Given the description of an element on the screen output the (x, y) to click on. 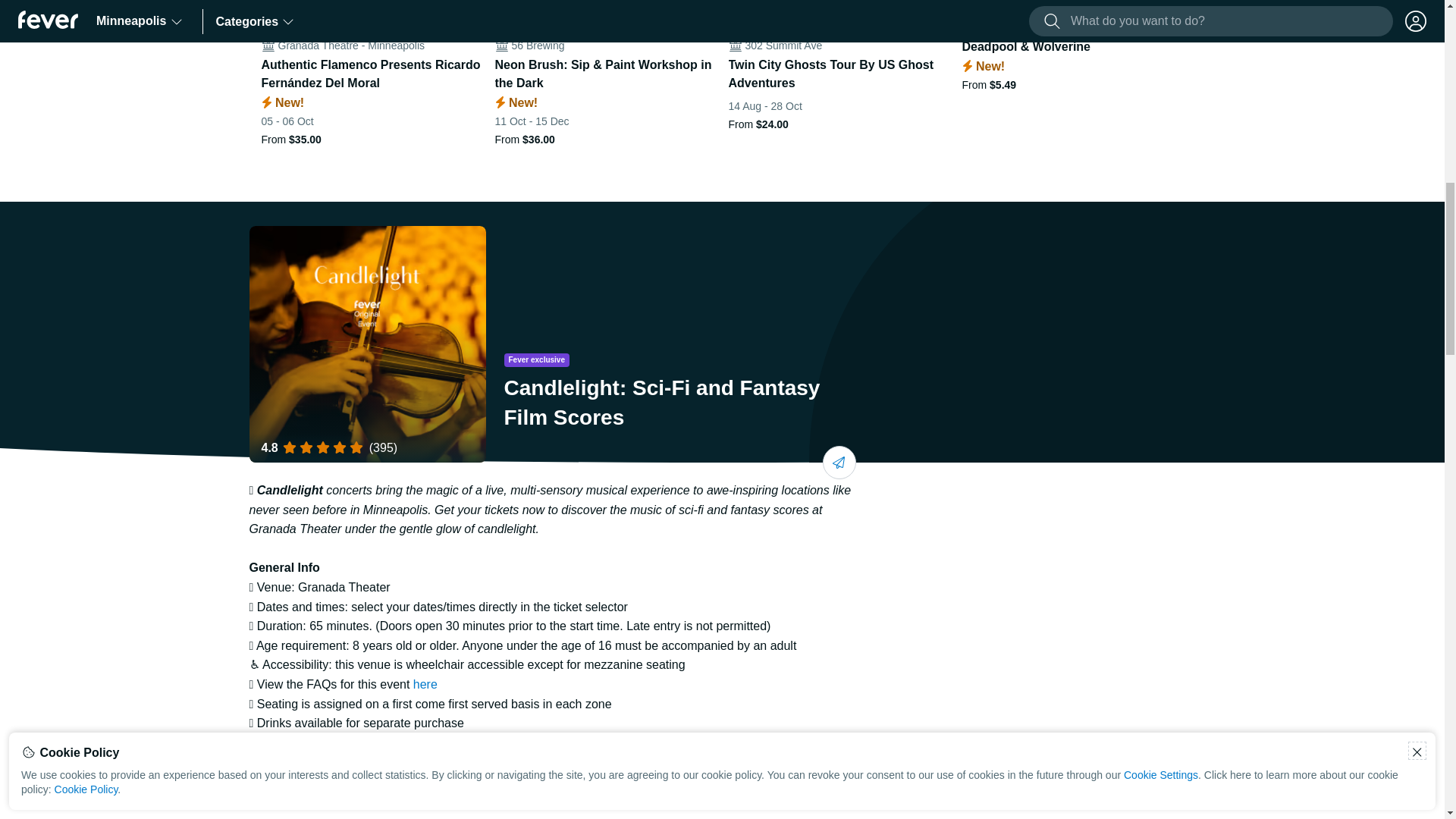
Candlelight: Sci-Fi and Fantasy Film Scores (366, 344)
St. Paul Historic Cave Tour - Wabasha Street Caves (1305, 73)
